Given the description of an element on the screen output the (x, y) to click on. 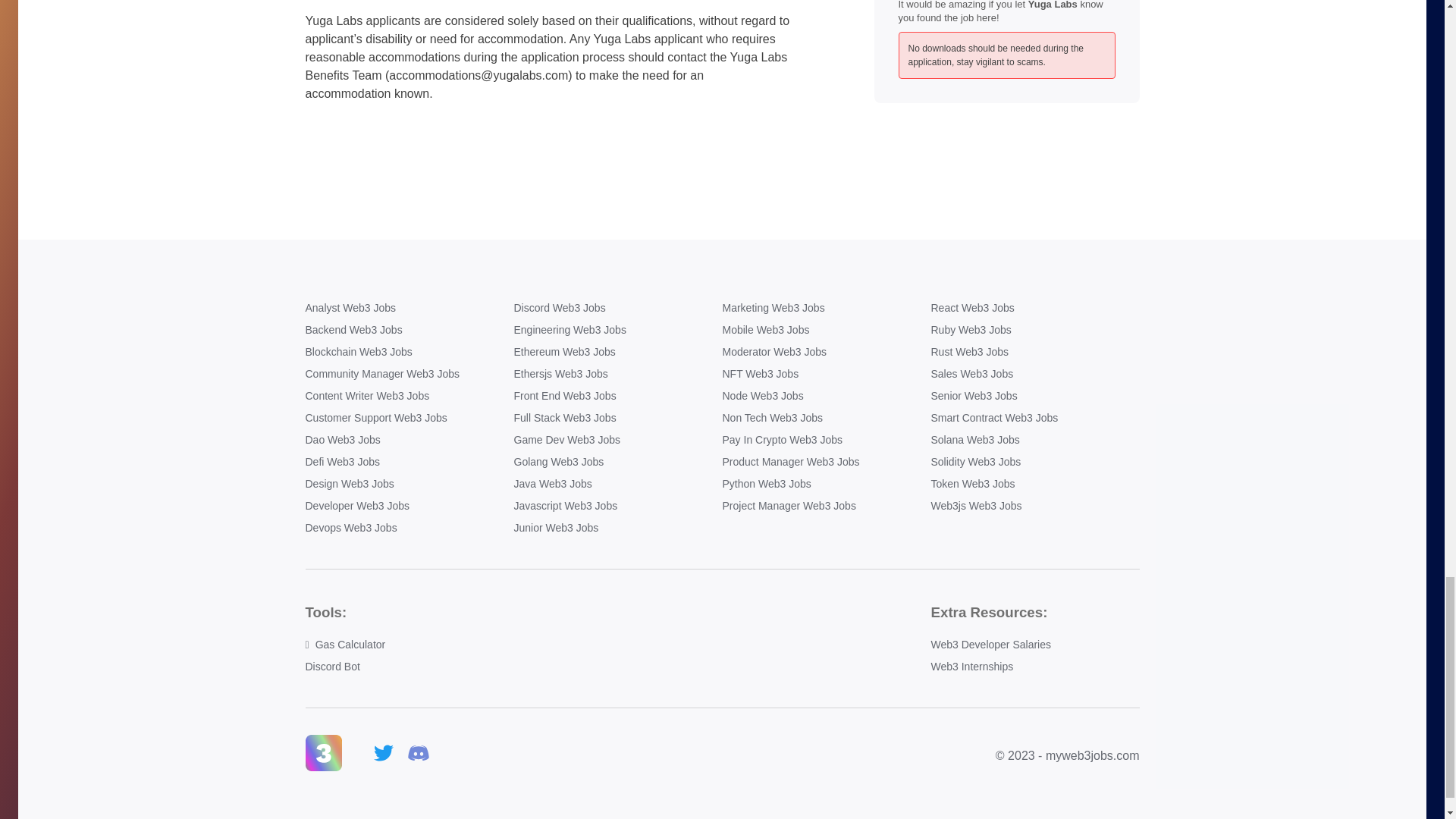
Content Writer Web3 Jobs (408, 396)
Front End Web3 Jobs (617, 396)
Moderator Web3 Jobs (826, 351)
NFT Web3 Jobs (826, 374)
Mobile Web3 Jobs (826, 330)
Game Dev Web3 Jobs (617, 439)
Engineering Web3 Jobs (617, 330)
Marketing Web3 Jobs (826, 308)
Ethereum Web3 Jobs (617, 351)
Backend Web3 Jobs (408, 330)
